Given the description of an element on the screen output the (x, y) to click on. 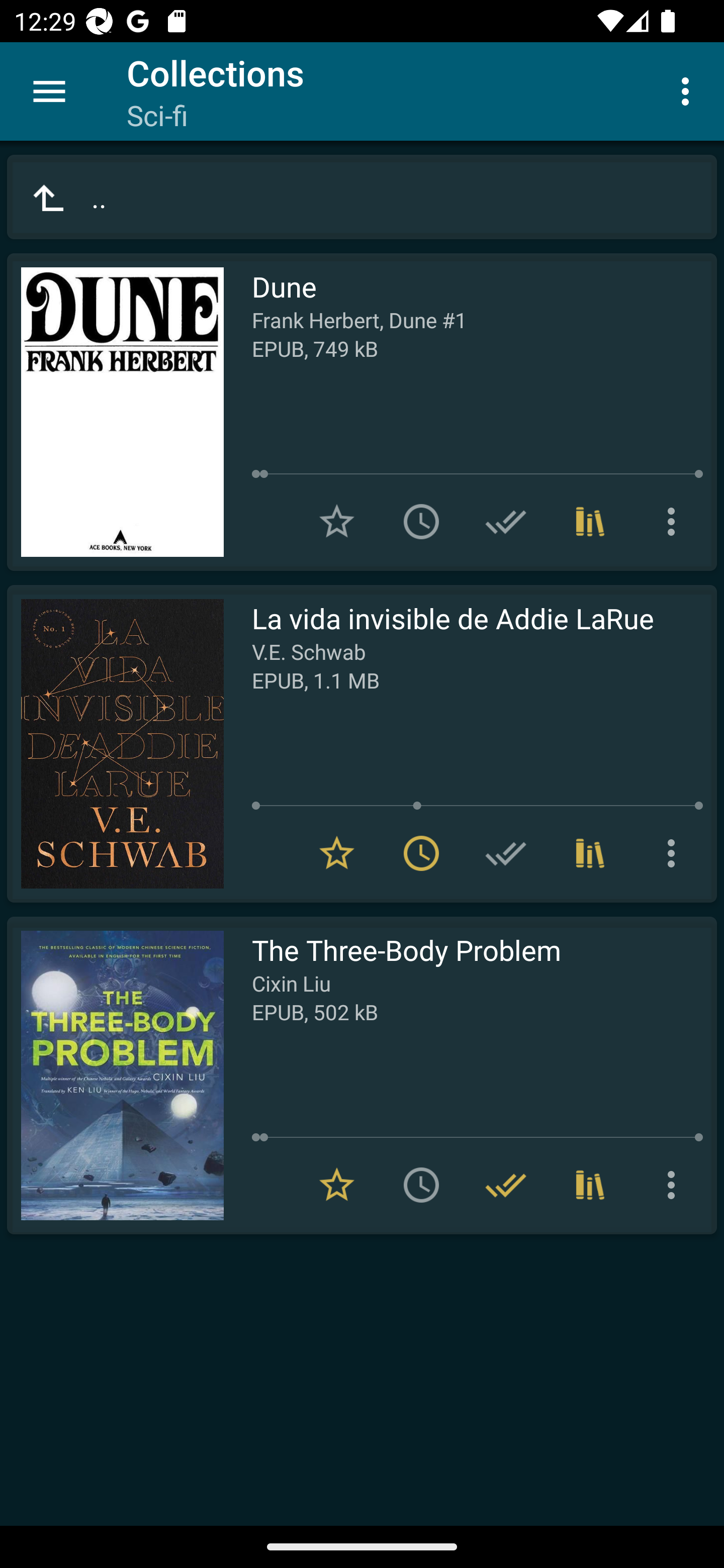
Menu (49, 91)
More options (688, 90)
.. (361, 197)
Read Dune (115, 412)
Add to Favorites (336, 521)
Add to To read (421, 521)
Add to Have read (505, 521)
Collections (1) (590, 521)
More options (674, 521)
Read La vida invisible de Addie LaRue (115, 743)
Remove from Favorites (336, 852)
Remove from To read (421, 852)
Add to Have read (505, 852)
Collections (1) (590, 852)
More options (674, 852)
Read The Three-Body Problem (115, 1075)
Remove from Favorites (336, 1185)
